Given the description of an element on the screen output the (x, y) to click on. 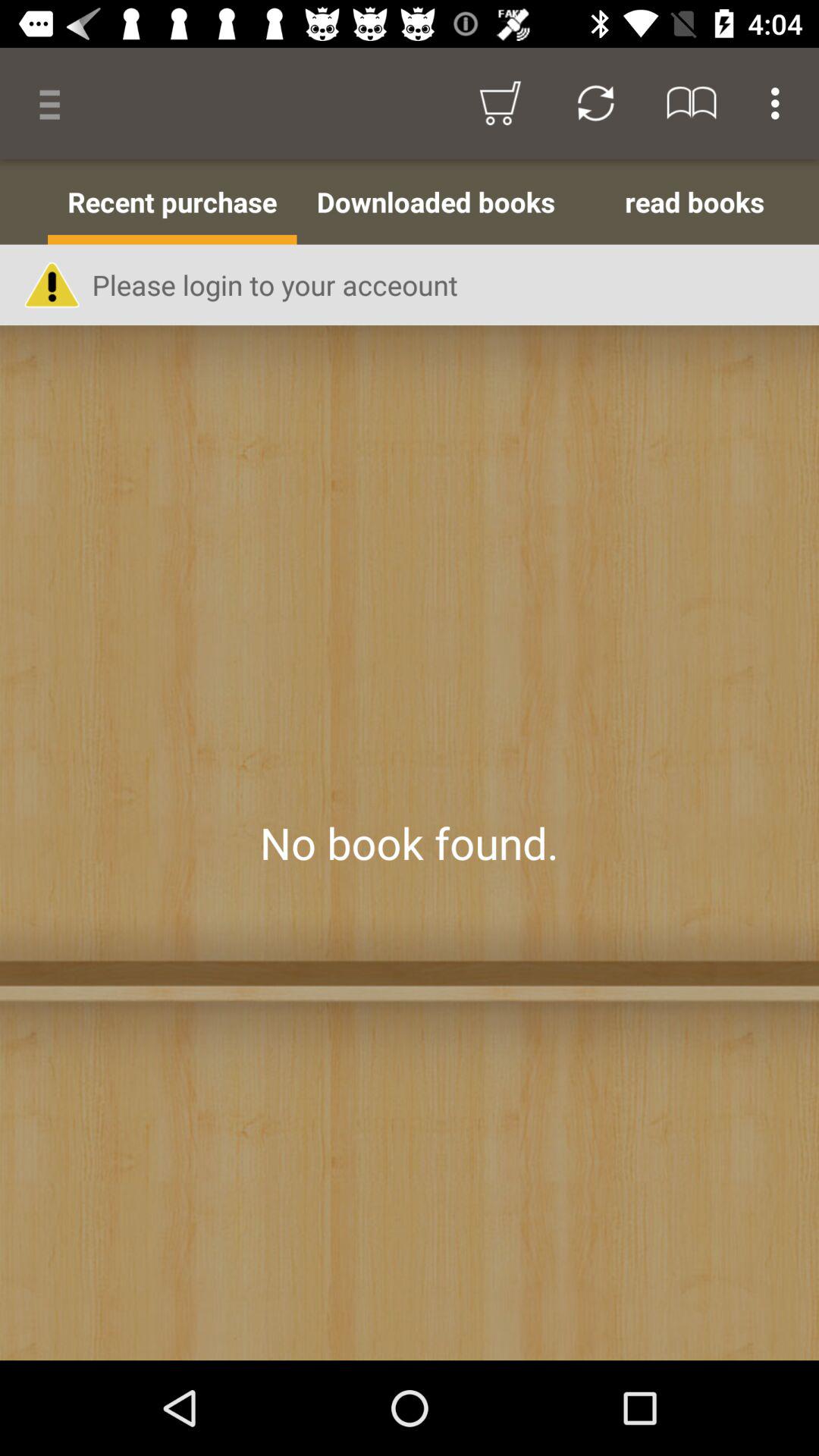
turn off the item above the downloaded books app (595, 103)
